Given the description of an element on the screen output the (x, y) to click on. 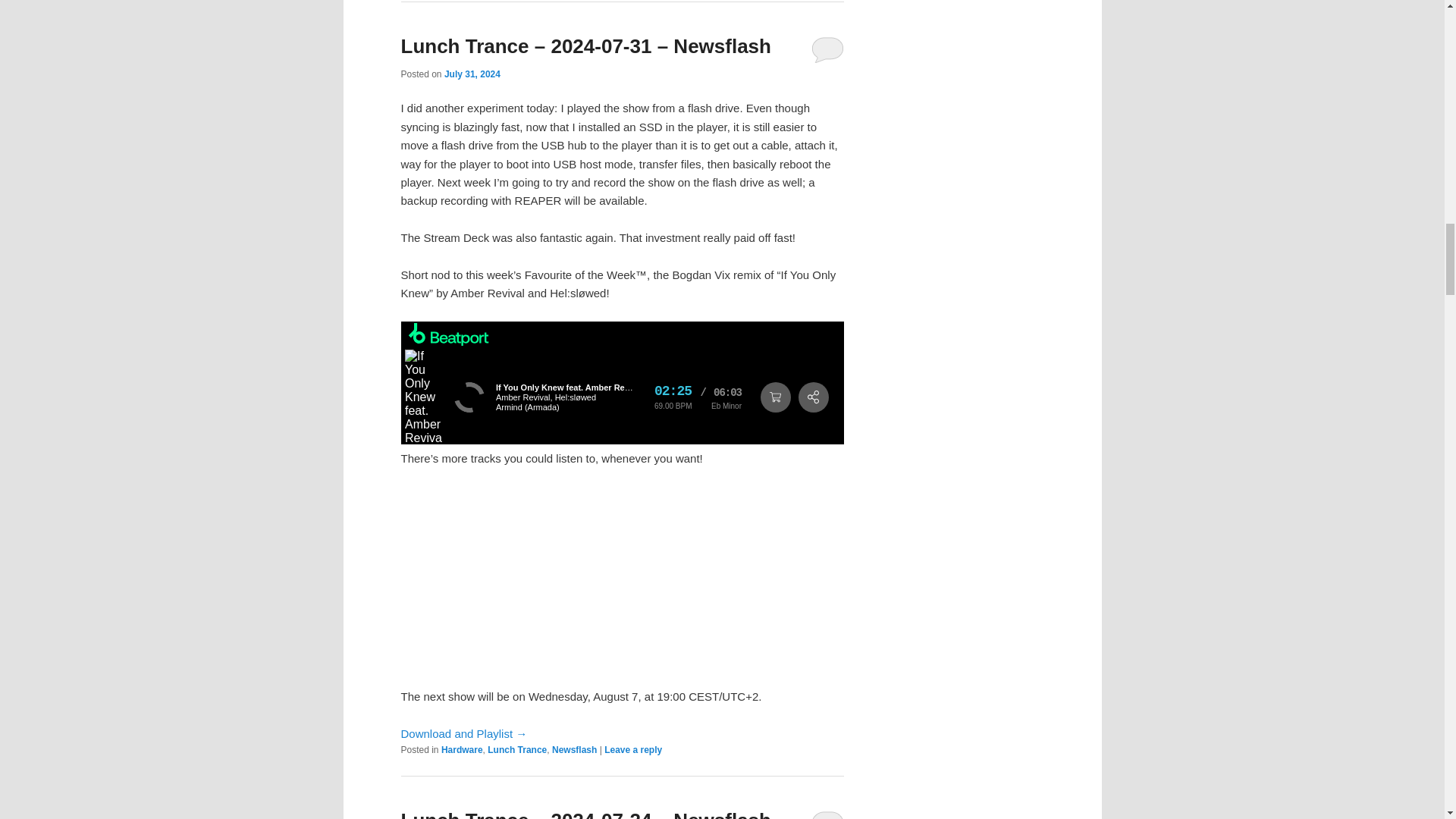
Leave a reply (633, 749)
19:00 (472, 73)
Hardware (462, 749)
Lunch Trance (517, 749)
Newsflash (573, 749)
July 31, 2024 (472, 73)
